Given the description of an element on the screen output the (x, y) to click on. 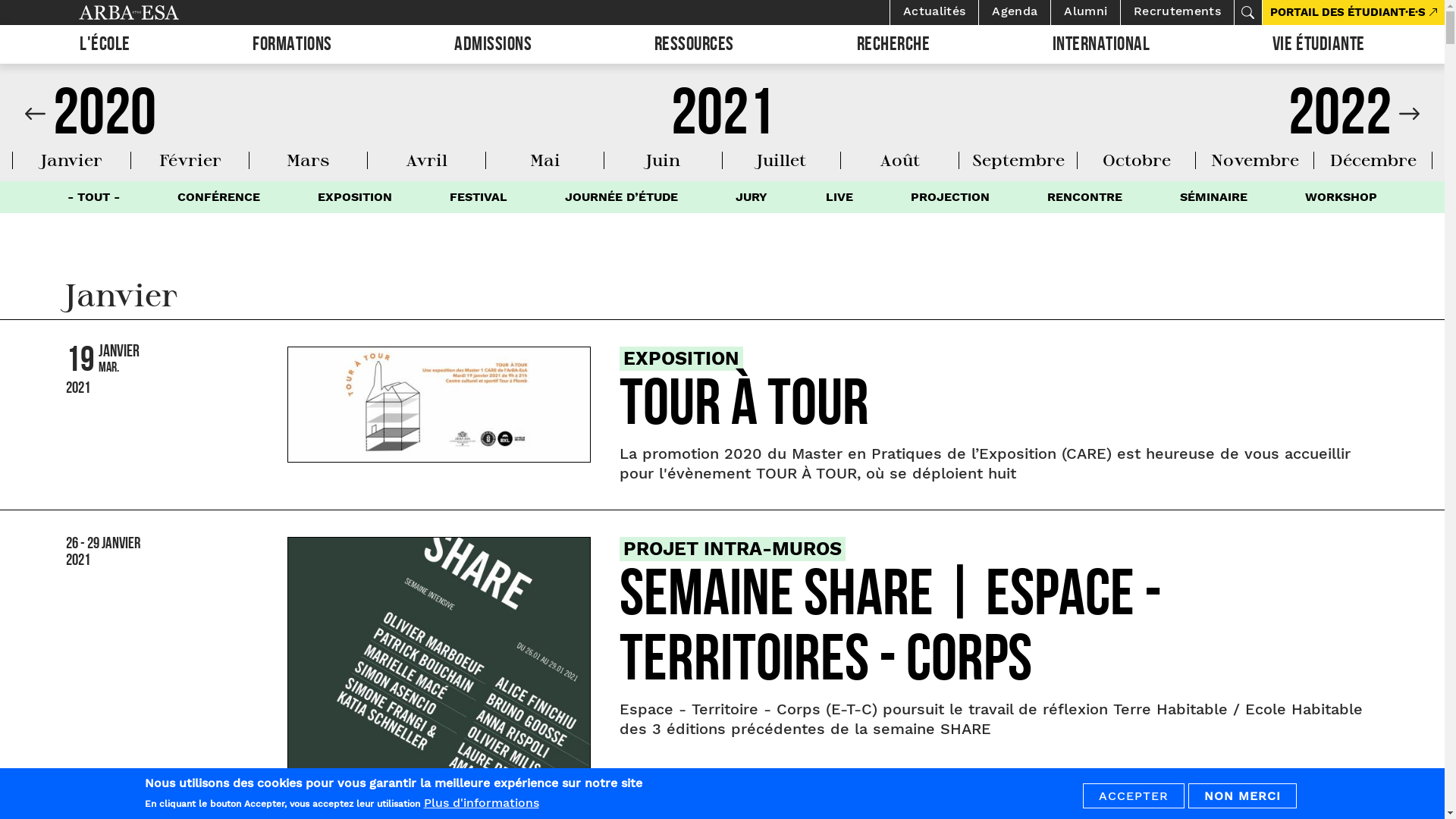
Plus d'informations Element type: text (480, 802)
FORMATIONS Element type: text (291, 44)
RENCONTRE Element type: text (1084, 196)
NON MERCI Element type: text (1241, 795)
RECHERCHE Element type: text (893, 44)
Novembre Element type: text (1254, 159)
FESTIVAL Element type: text (478, 196)
ACCEPTER Element type: text (1133, 795)
INTERNATIONAL Element type: text (1101, 44)
Mai Element type: text (544, 159)
Alumni Element type: text (1085, 12)
LIVE Element type: text (839, 196)
Mars Element type: text (307, 159)
2020 Element type: text (90, 120)
SEMAINE SHARE | Espace - Territoires - Corps Element type: text (890, 633)
Juin Element type: text (663, 159)
Avril Element type: text (426, 159)
Septembre Element type: text (1018, 159)
Janvier Element type: text (71, 159)
ADMISSIONS Element type: text (492, 44)
RESSOURCES Element type: text (694, 44)
PROJET INTRA-MUROS Element type: text (732, 548)
JURY Element type: text (751, 196)
EXPOSITION Element type: text (681, 358)
Recrutements Element type: text (1176, 12)
Arba ESA Element type: text (154, 12)
Juillet Element type: text (781, 159)
2021 Element type: text (721, 120)
- TOUT - Element type: text (92, 196)
Rechercher Element type: text (1247, 12)
Agenda Element type: text (1014, 12)
EXPOSITION Element type: text (354, 196)
WORKSHOP Element type: text (1341, 196)
PROJECTION Element type: text (949, 196)
Octobre Element type: text (1136, 159)
2022 Element type: text (1353, 120)
